Given the description of an element on the screen output the (x, y) to click on. 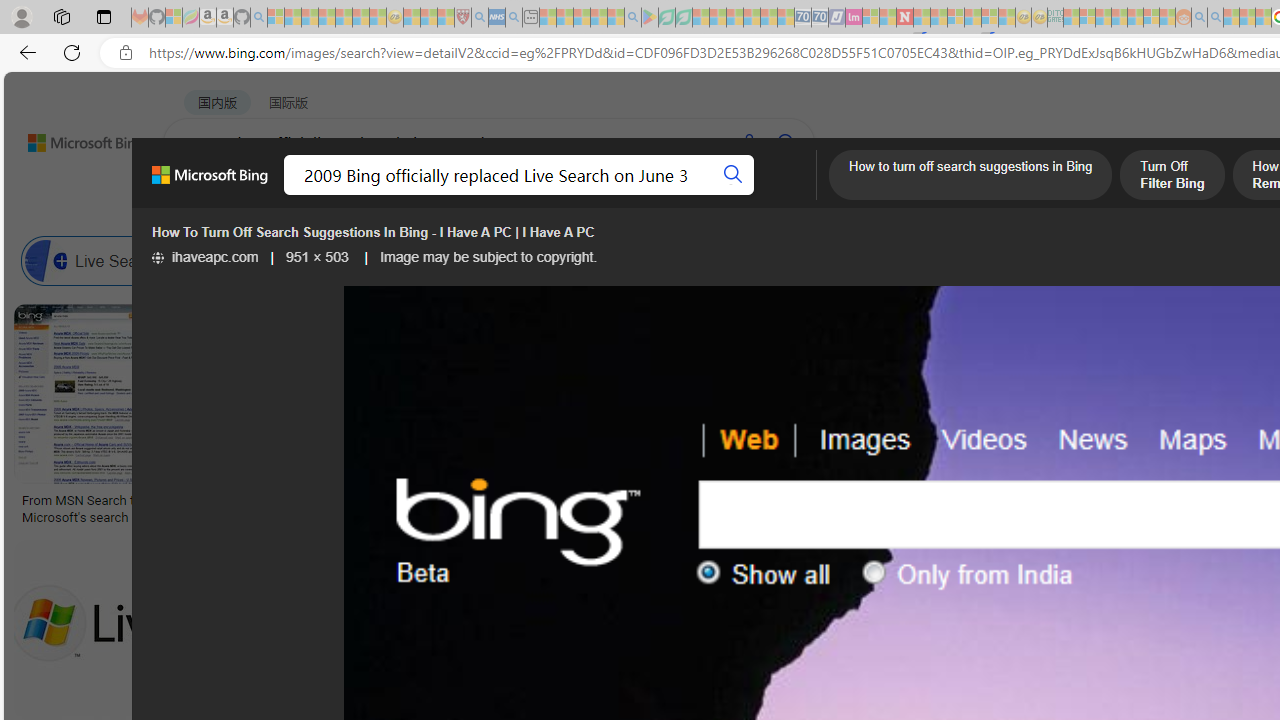
Local - MSN - Sleeping (445, 17)
How to turn off search suggestions in Bing (970, 177)
Microsoft Bing, Back to Bing search (209, 183)
MSNBC - MSN - Sleeping (1071, 17)
Bing Ai Search Engine Powered (830, 260)
Pets - MSN - Sleeping (598, 17)
